Given the description of an element on the screen output the (x, y) to click on. 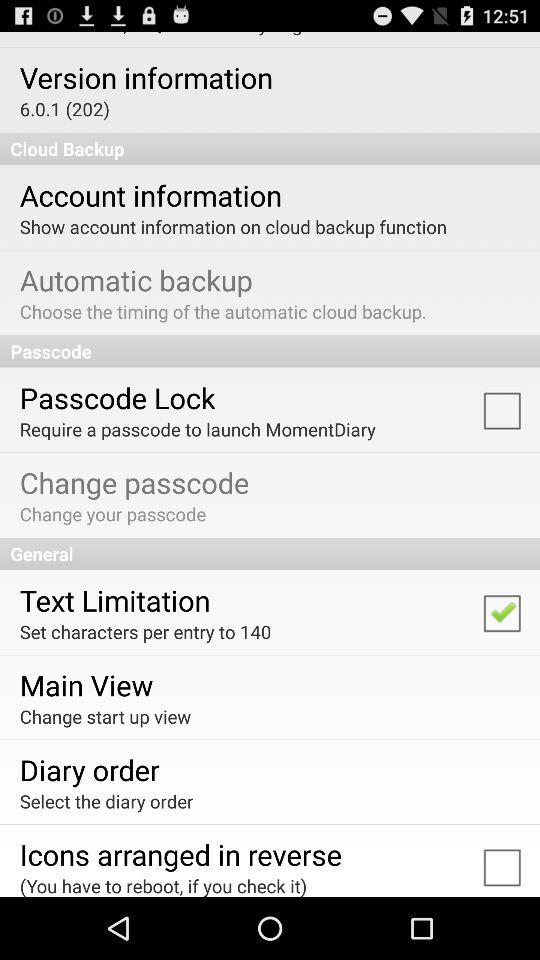
launch main view app (86, 684)
